Given the description of an element on the screen output the (x, y) to click on. 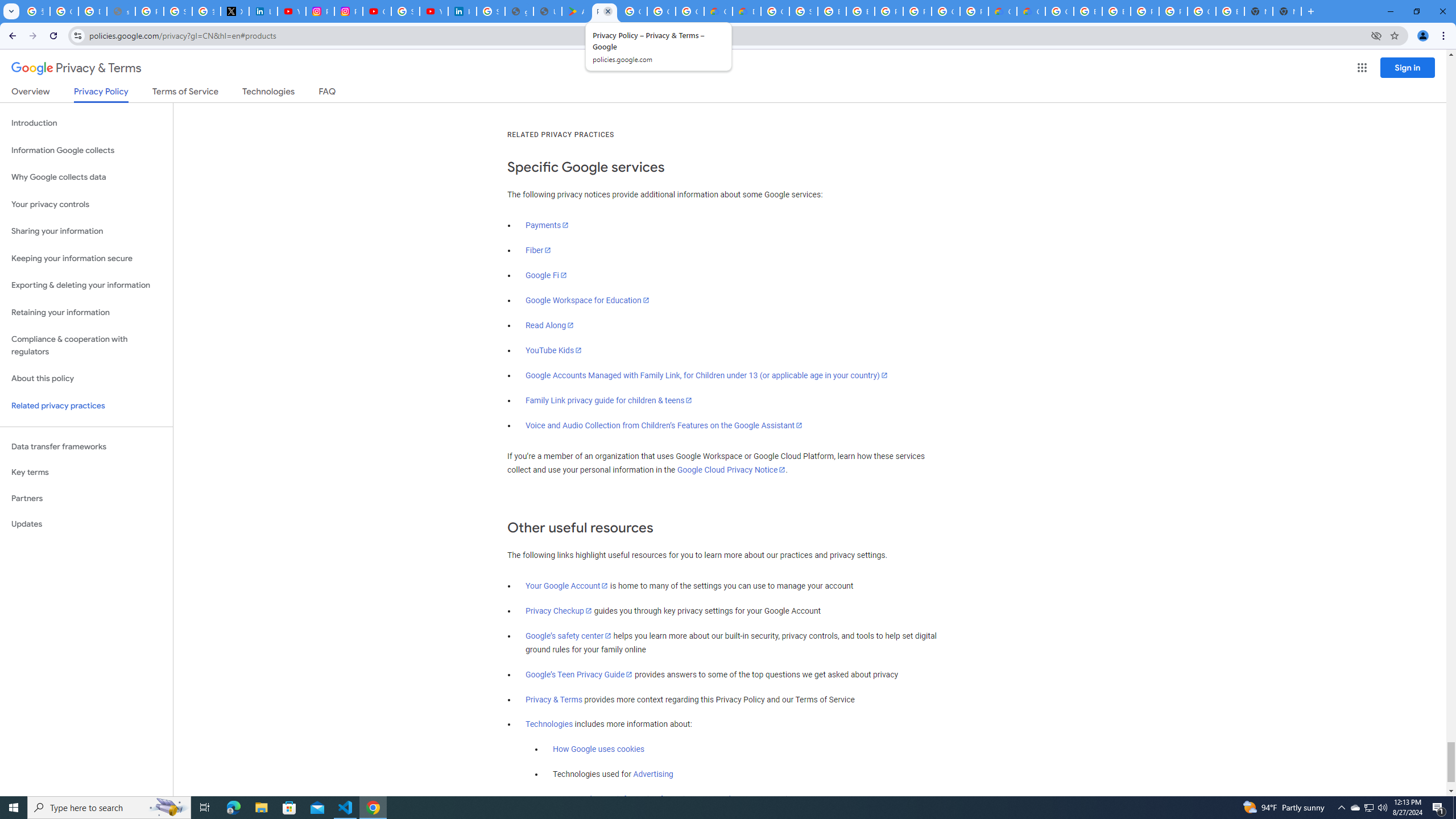
Browse Chrome as a guest - Computer - Google Chrome Help (1088, 11)
Google Fi (545, 275)
Your privacy controls (86, 204)
Data transfer frameworks (86, 446)
Sign in - Google Accounts (490, 11)
Sharing your information (86, 230)
Read Along (550, 325)
